Given the description of an element on the screen output the (x, y) to click on. 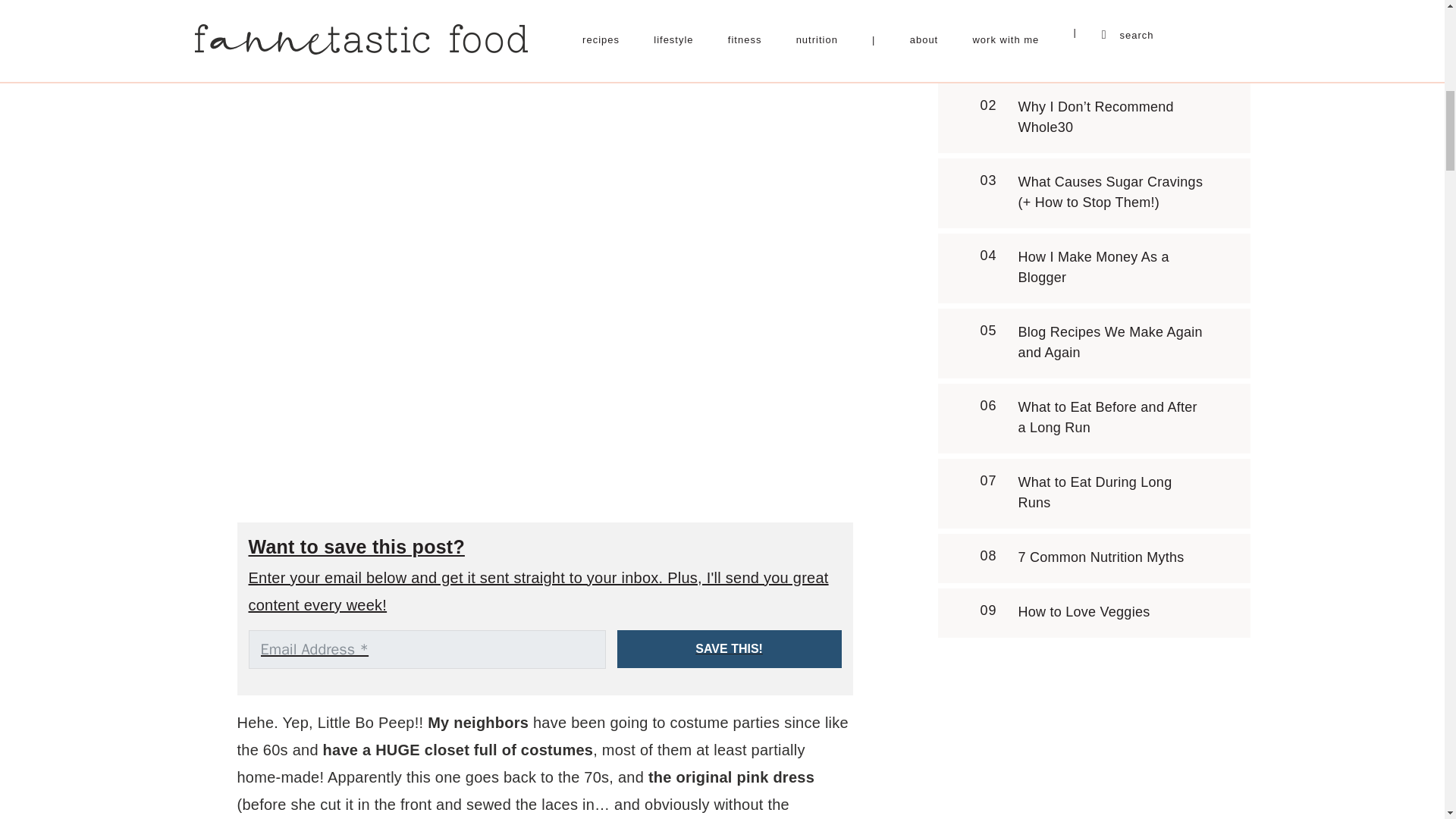
SAVE THIS! (729, 648)
023 (544, 73)
